Given the description of an element on the screen output the (x, y) to click on. 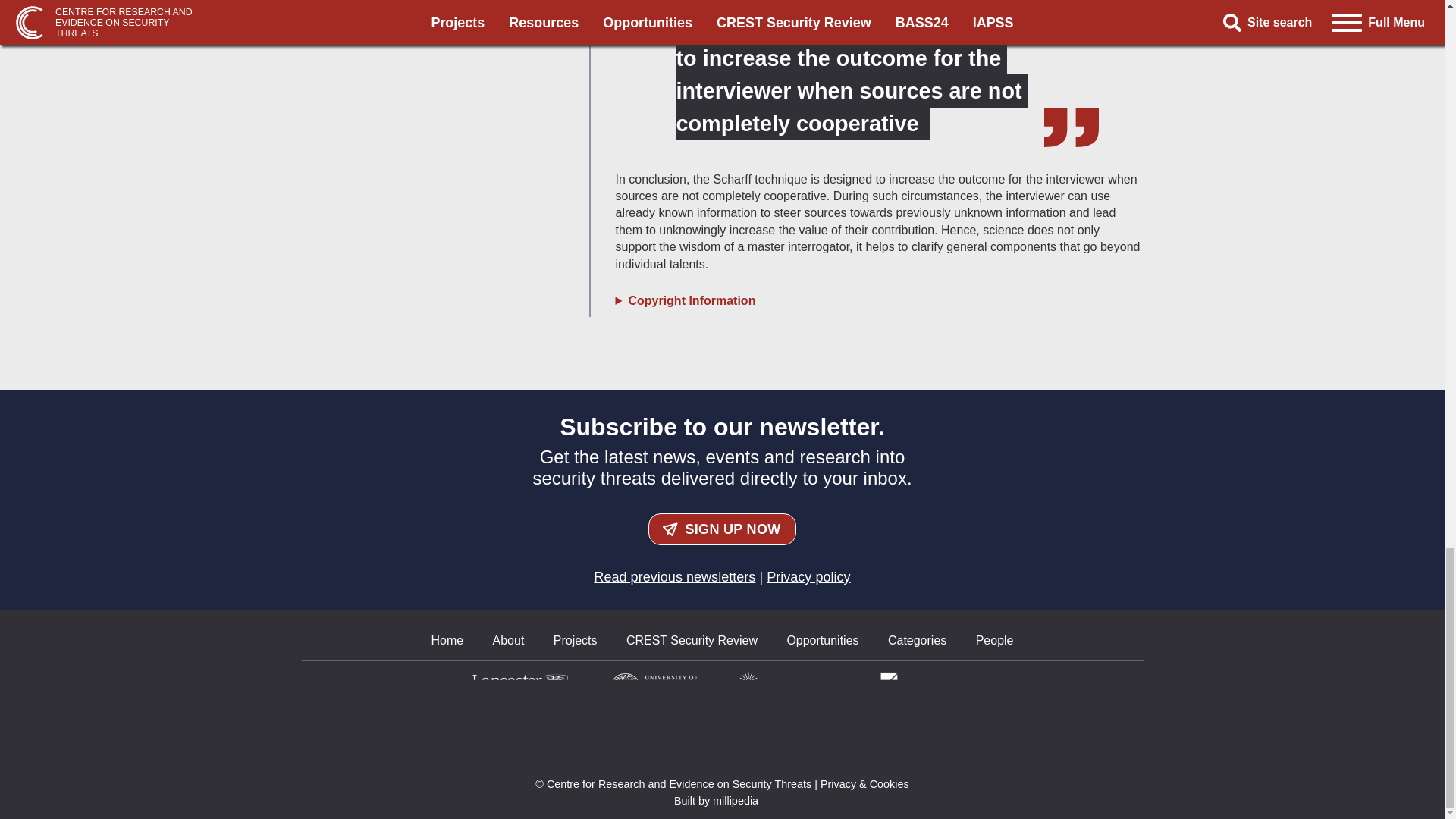
CREST Security Review (691, 640)
SIGN UP NOW (721, 529)
Opportunities (822, 640)
Privacy policy (808, 576)
Home (446, 640)
Read previous newsletters (674, 576)
Categories (917, 640)
People (994, 640)
About (508, 640)
Built by millipedia (722, 800)
